Given the description of an element on the screen output the (x, y) to click on. 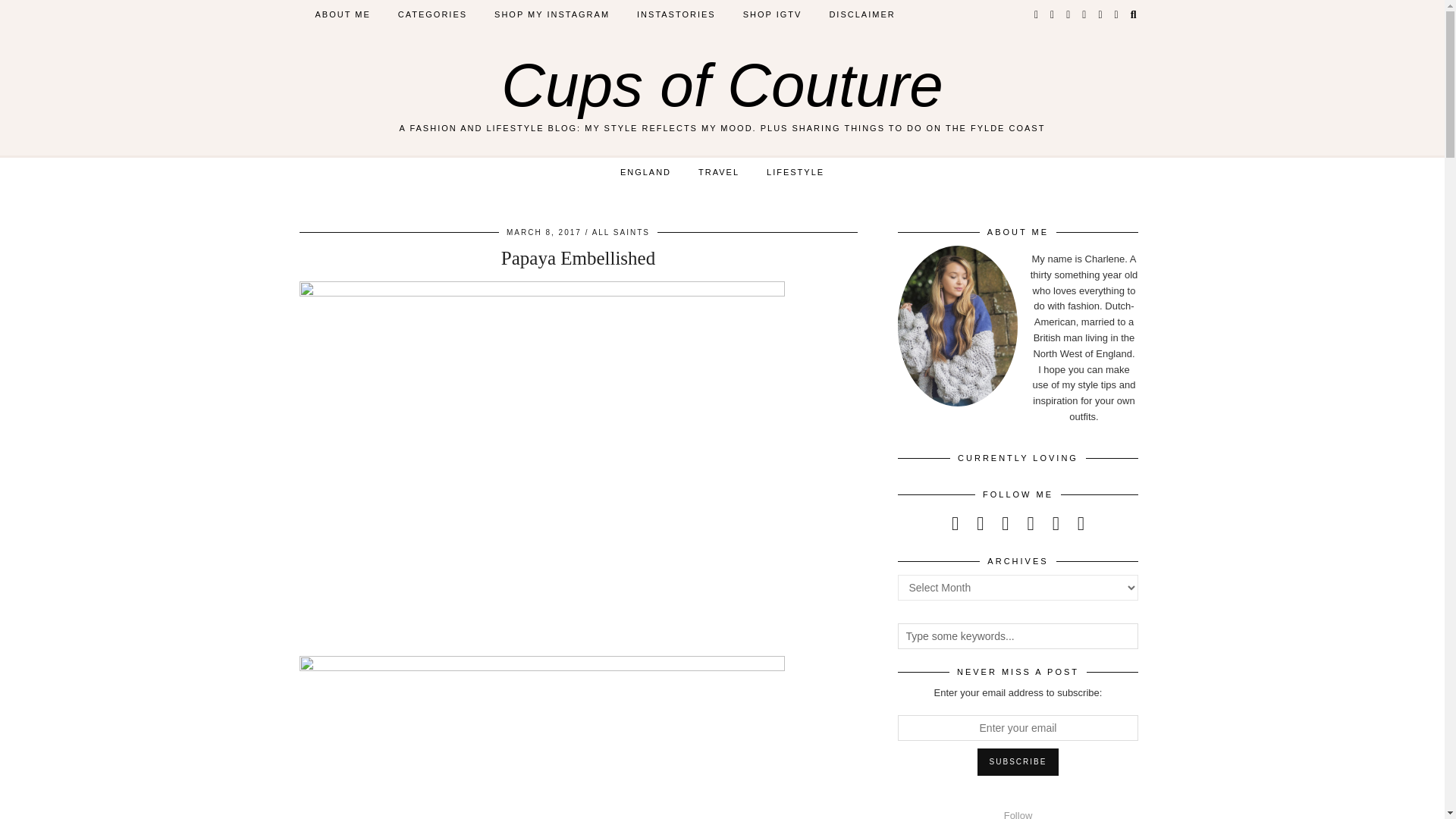
Cups of Couture (721, 84)
Subscribe (1017, 761)
